Given the description of an element on the screen output the (x, y) to click on. 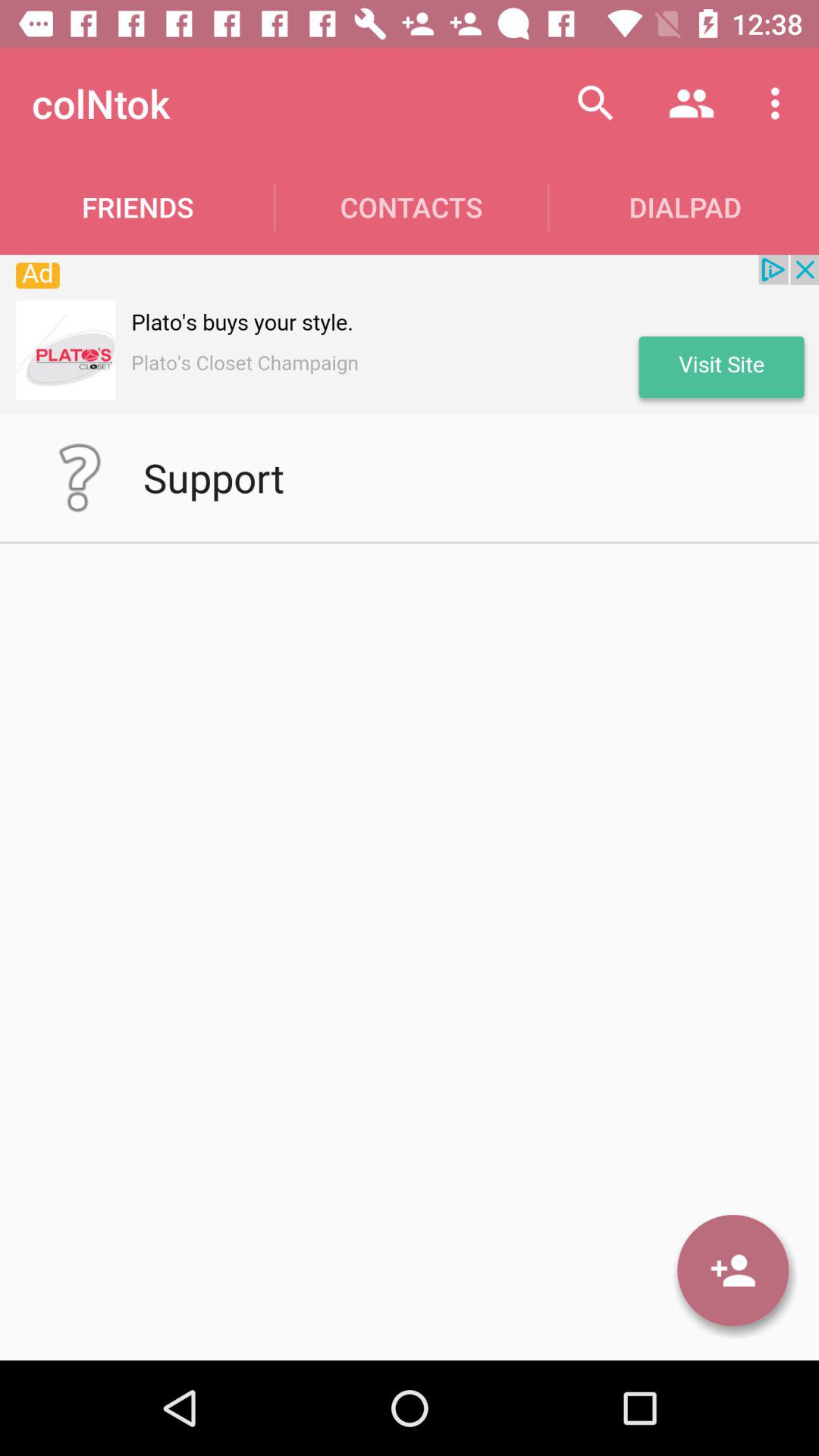
add a new contact (733, 1270)
